Given the description of an element on the screen output the (x, y) to click on. 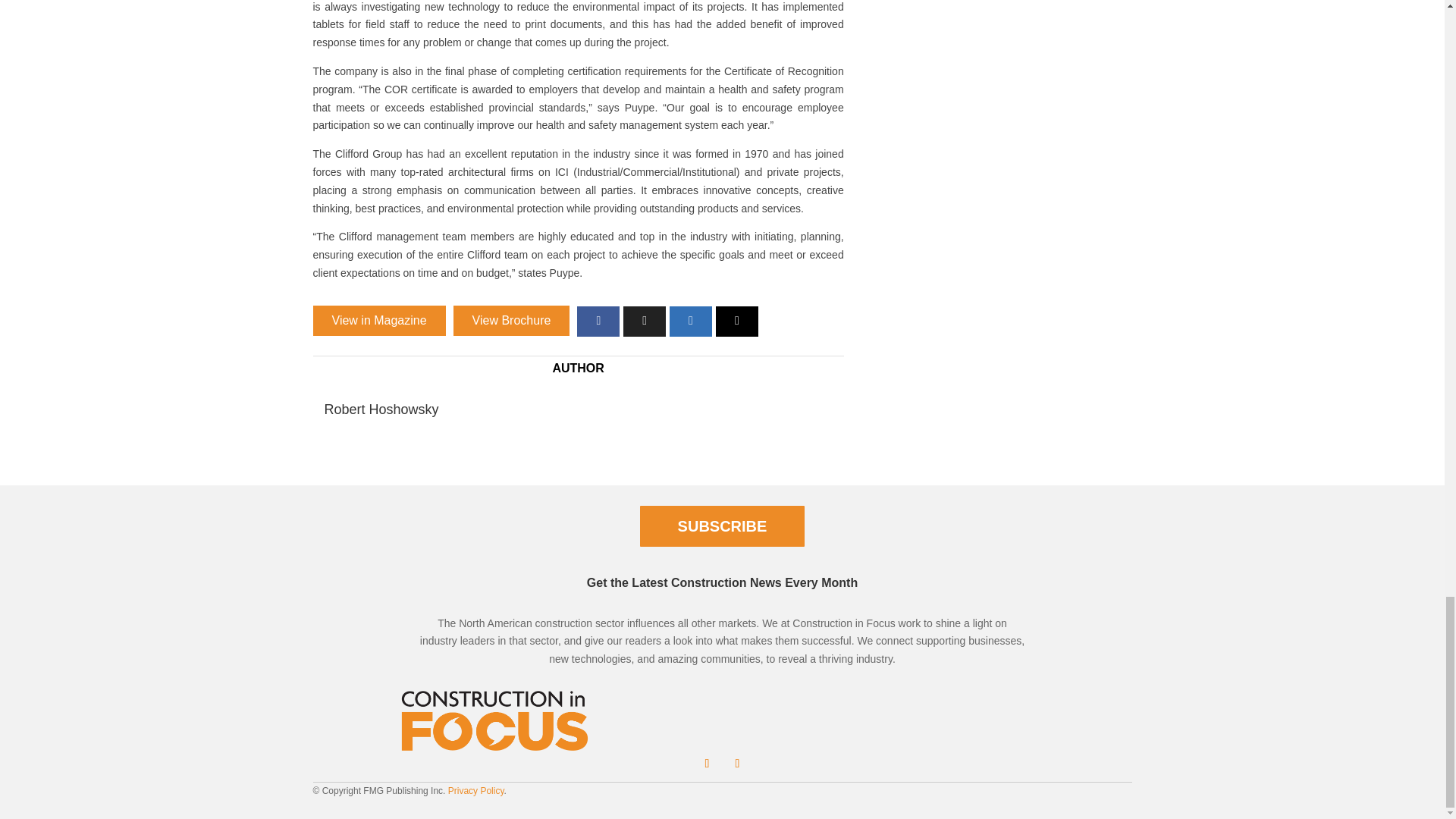
Robert Hoshowsky (381, 409)
View in Magazine (379, 320)
View Brochure (511, 320)
Follow on Instagram (737, 763)
Follow on LinkedIn (706, 763)
